Given the description of an element on the screen output the (x, y) to click on. 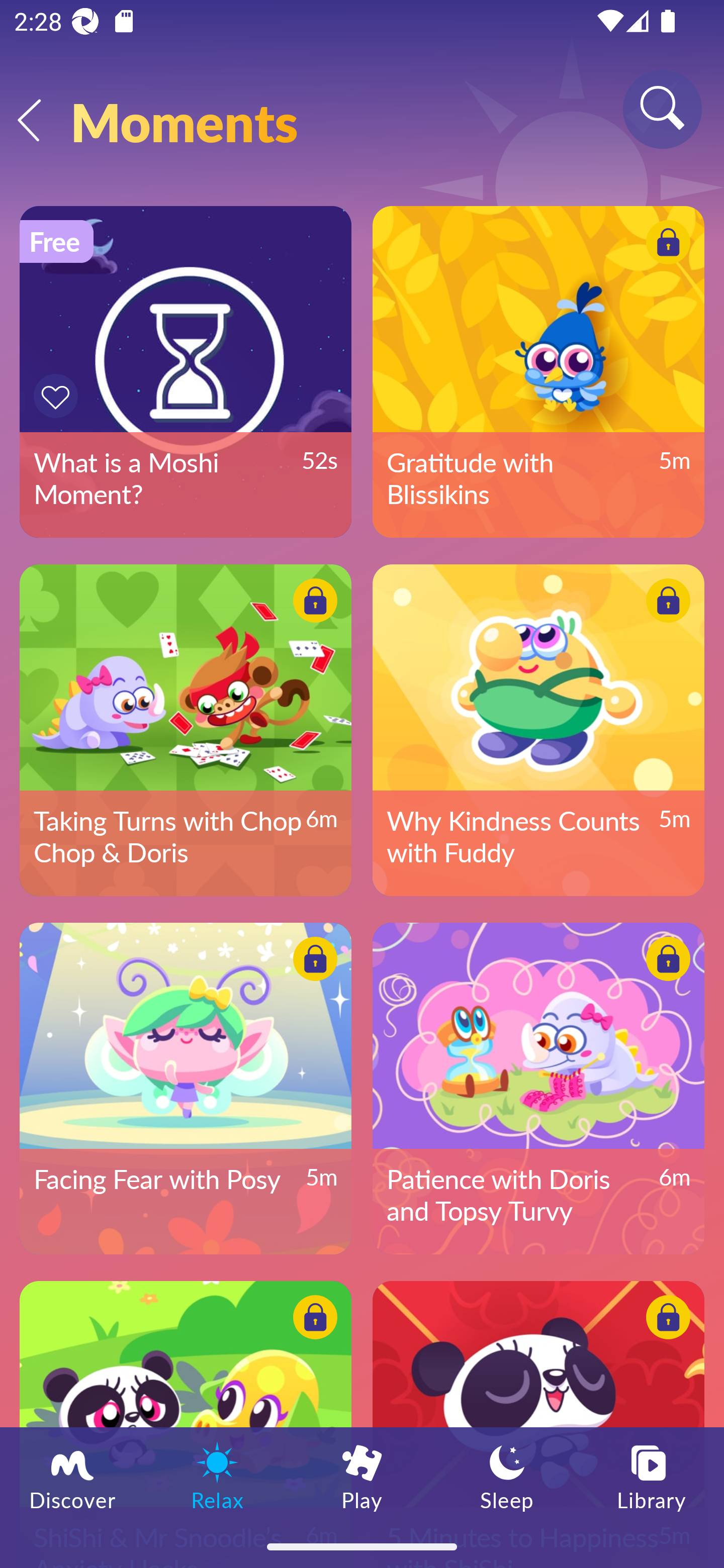
Button (665, 244)
Button (58, 395)
Button (311, 603)
Button (665, 603)
Featured Content Button Facing Fear with Posy 5m (185, 1087)
Button (311, 960)
Button (665, 960)
Button (311, 1320)
Button (665, 1320)
Discover (72, 1475)
Play (361, 1475)
Sleep (506, 1475)
Library (651, 1475)
